Given the description of an element on the screen output the (x, y) to click on. 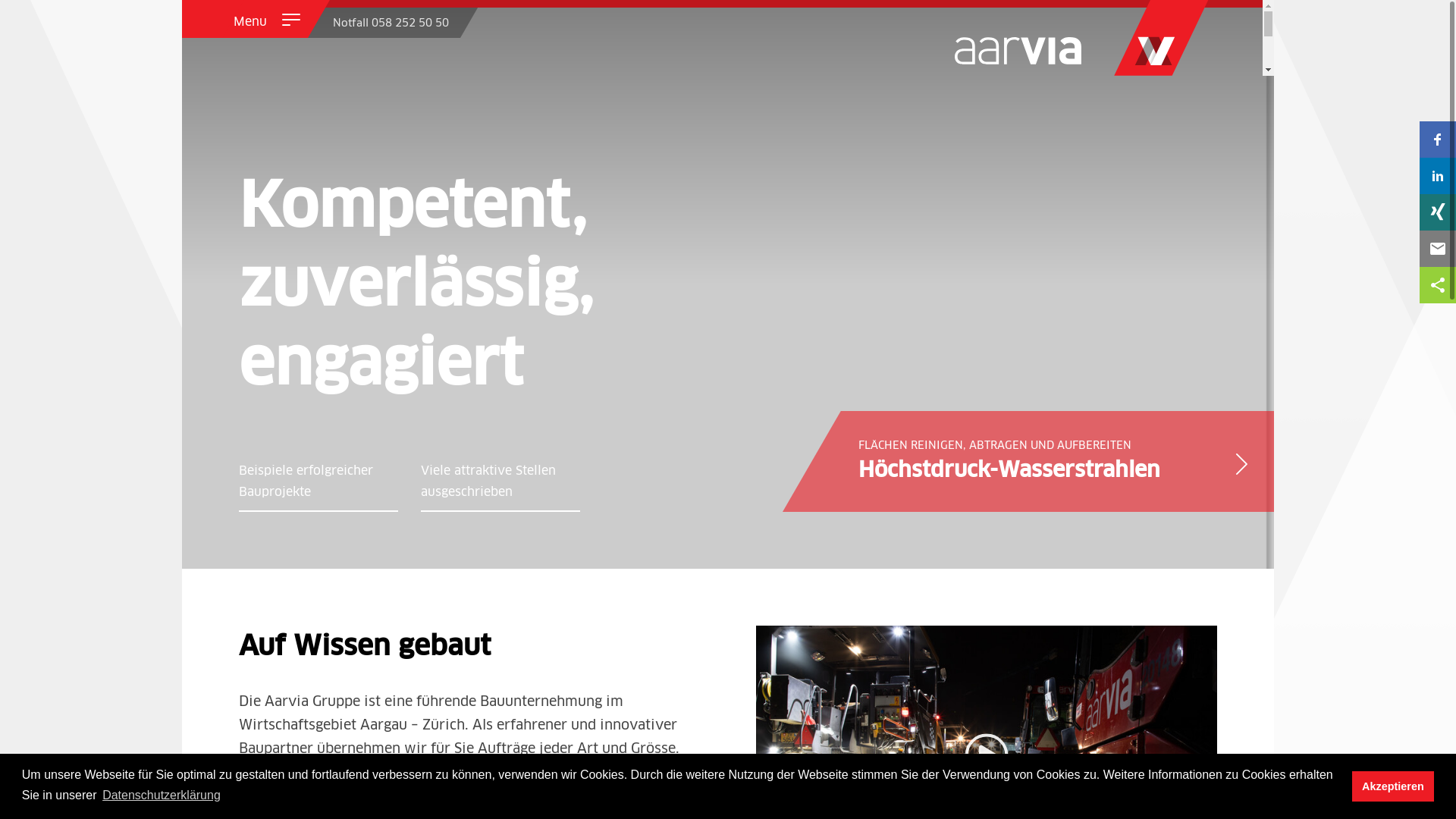
Beispiele erfolgreicher Bauprojekte Element type: text (318, 480)
Notfall 058 252 50 50 Element type: text (395, 21)
Viele attraktive Stellen ausgeschrieben Element type: text (500, 480)
Akzeptieren Element type: text (1393, 786)
